Given the description of an element on the screen output the (x, y) to click on. 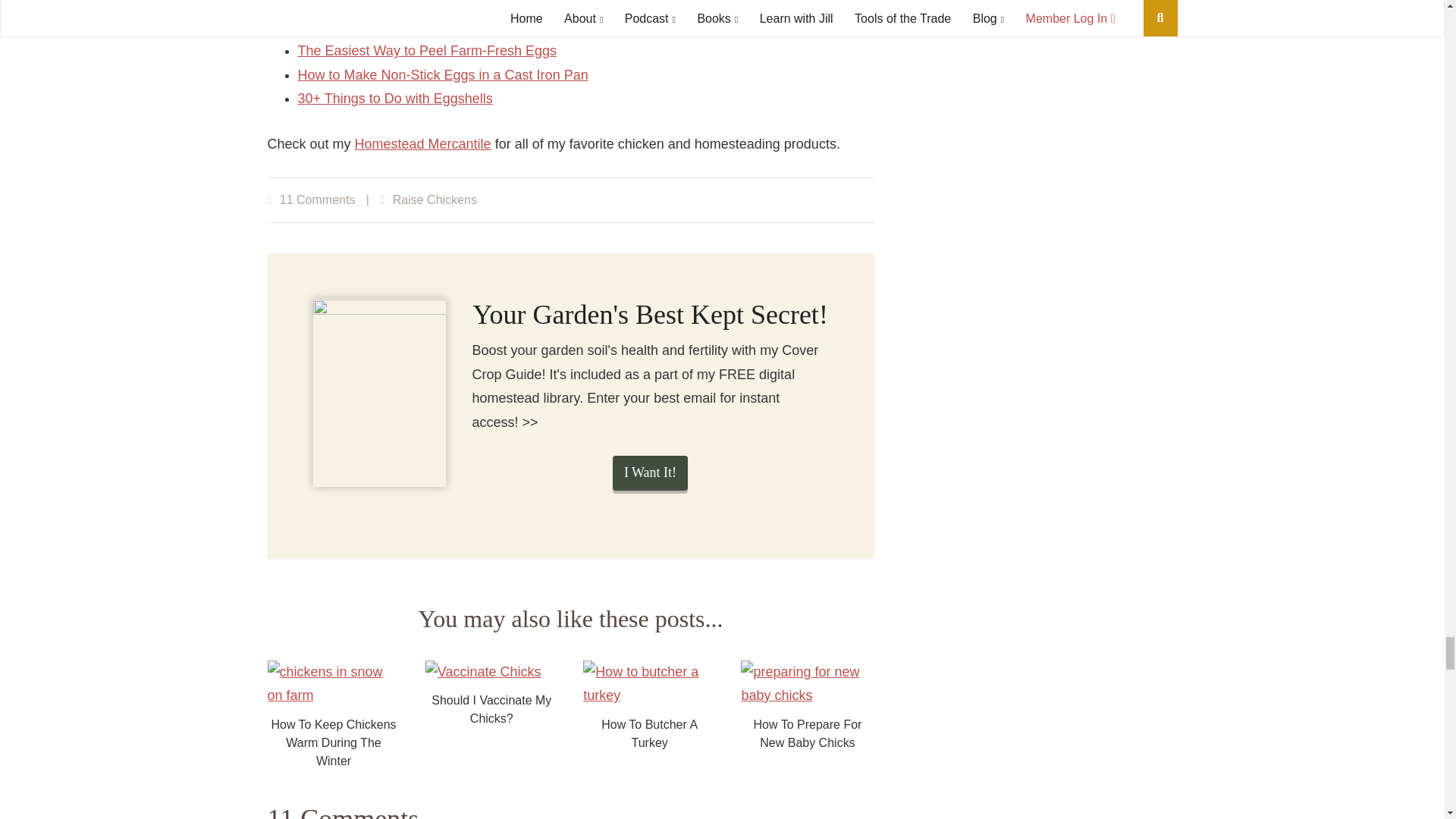
Permanent Link toHow to Prepare for New Baby Chicks (807, 716)
Permanent Link toHow to Butcher a Turkey (649, 716)
Permanent Link toShould I Vaccinate My Chicks? (491, 716)
Permanent Link toHow to Keep Chickens Warm During the Winter (332, 716)
